Given the description of an element on the screen output the (x, y) to click on. 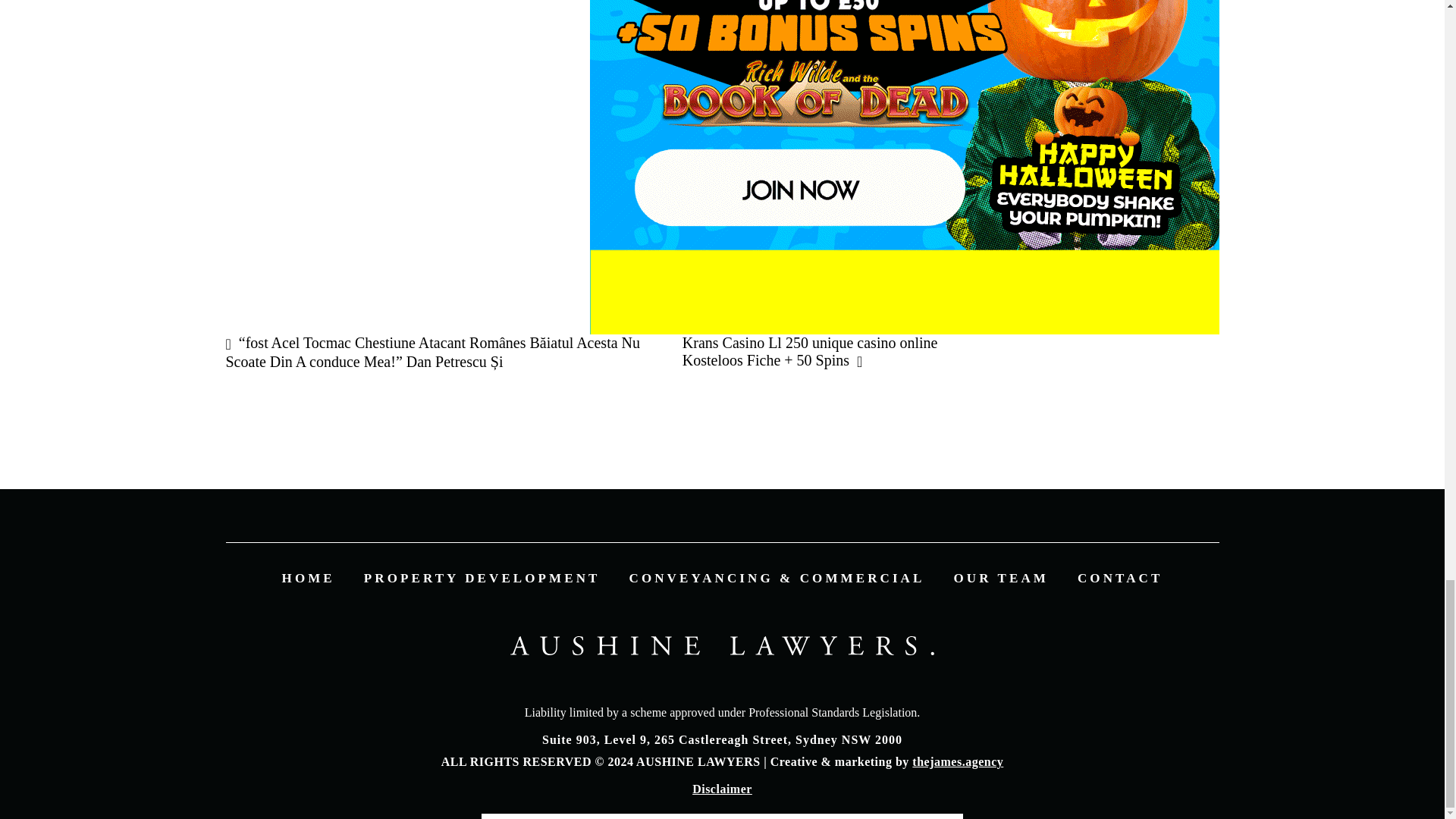
OUR TEAM (1000, 577)
PROPERTY DEVELOPMENT (481, 577)
thejames.agency (957, 761)
Suite 903, Level 9, 265 Castlereagh Street, Sydney NSW 2000 (721, 739)
Disclaimer (722, 788)
HOME (308, 577)
Disclaimer (722, 788)
CONTACT (1119, 577)
